Given the description of an element on the screen output the (x, y) to click on. 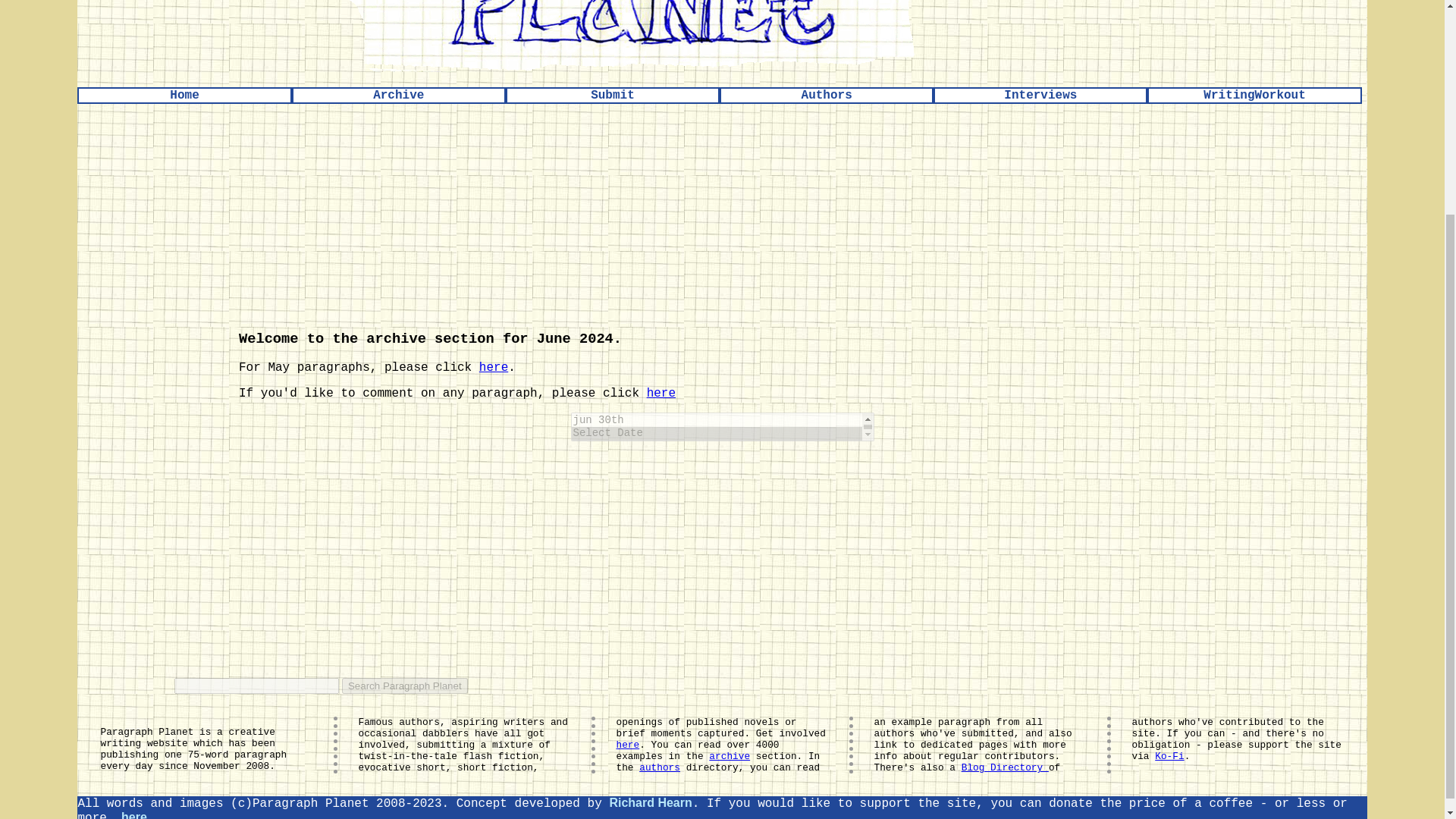
here (660, 393)
authors (659, 767)
Authors (826, 95)
Submit (612, 95)
Ko-Fi (1168, 756)
Search Paragraph Planet (404, 685)
here (493, 367)
Blog Directory (1004, 767)
Archive (398, 95)
here (627, 745)
Richard Hearn (649, 802)
Search Paragraph Planet (404, 685)
archive (729, 756)
